Given the description of an element on the screen output the (x, y) to click on. 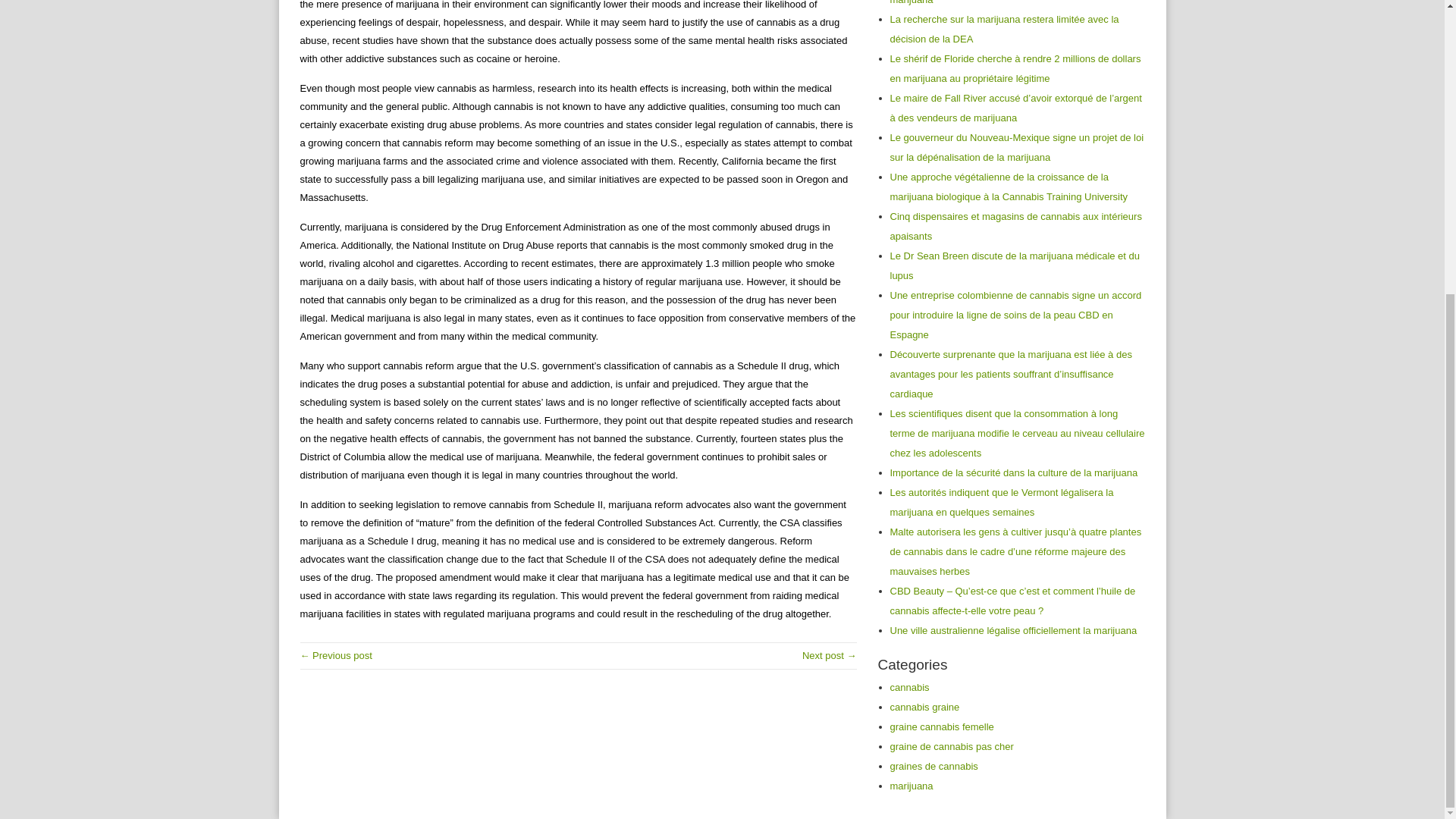
big bud xxl auto (829, 655)
cannabis (909, 686)
graine cannabis femelle (941, 726)
marijuana (911, 785)
graines de cannabis (933, 766)
cannabis graine (924, 706)
graine de cannabis pas cher (951, 746)
